Given the description of an element on the screen output the (x, y) to click on. 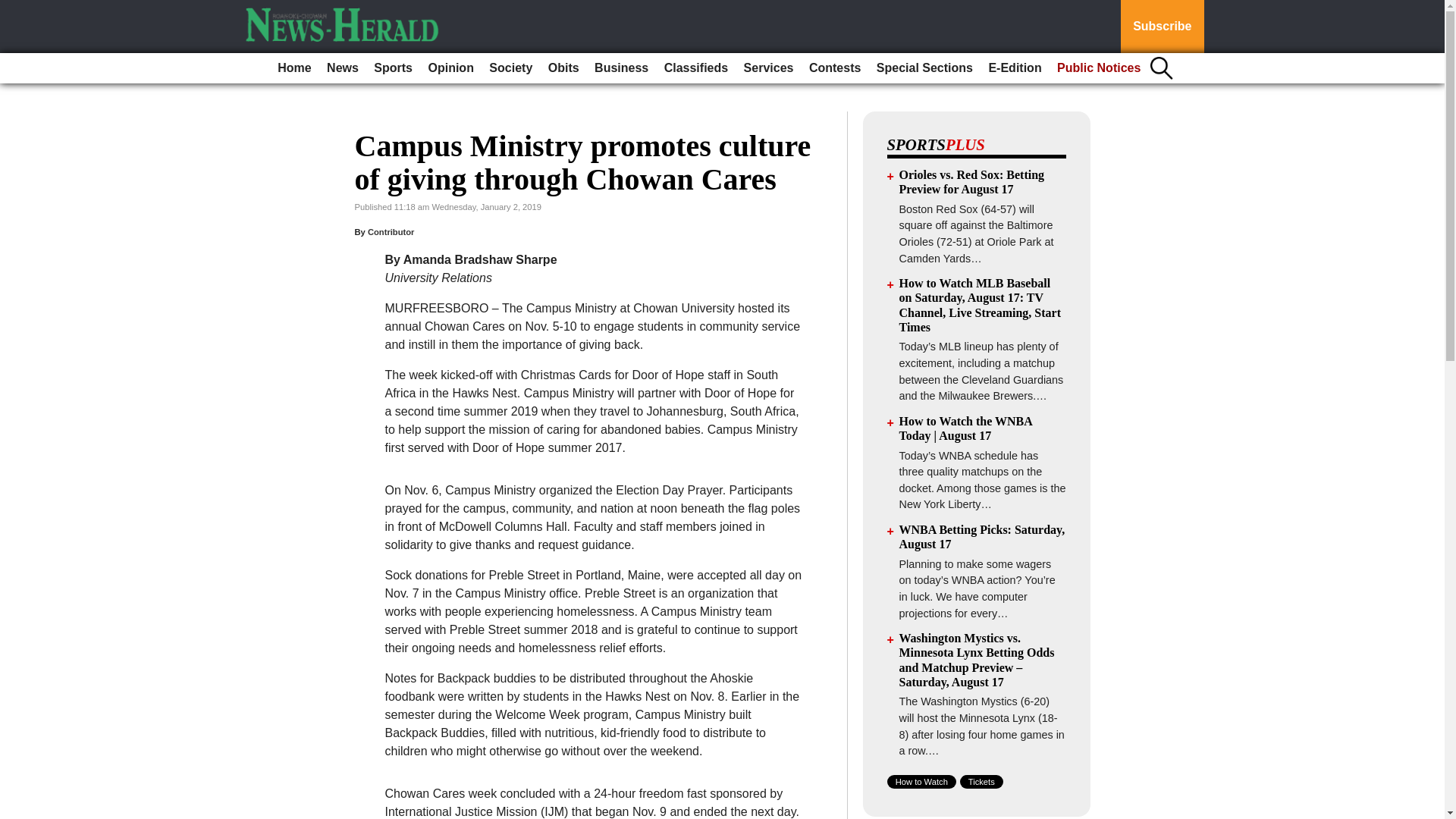
News (342, 68)
Classifieds (695, 68)
Subscribe (1162, 26)
Sports (393, 68)
Opinion (450, 68)
Special Sections (924, 68)
Services (768, 68)
E-Edition (1013, 68)
Contributor (391, 231)
Obits (563, 68)
